Given the description of an element on the screen output the (x, y) to click on. 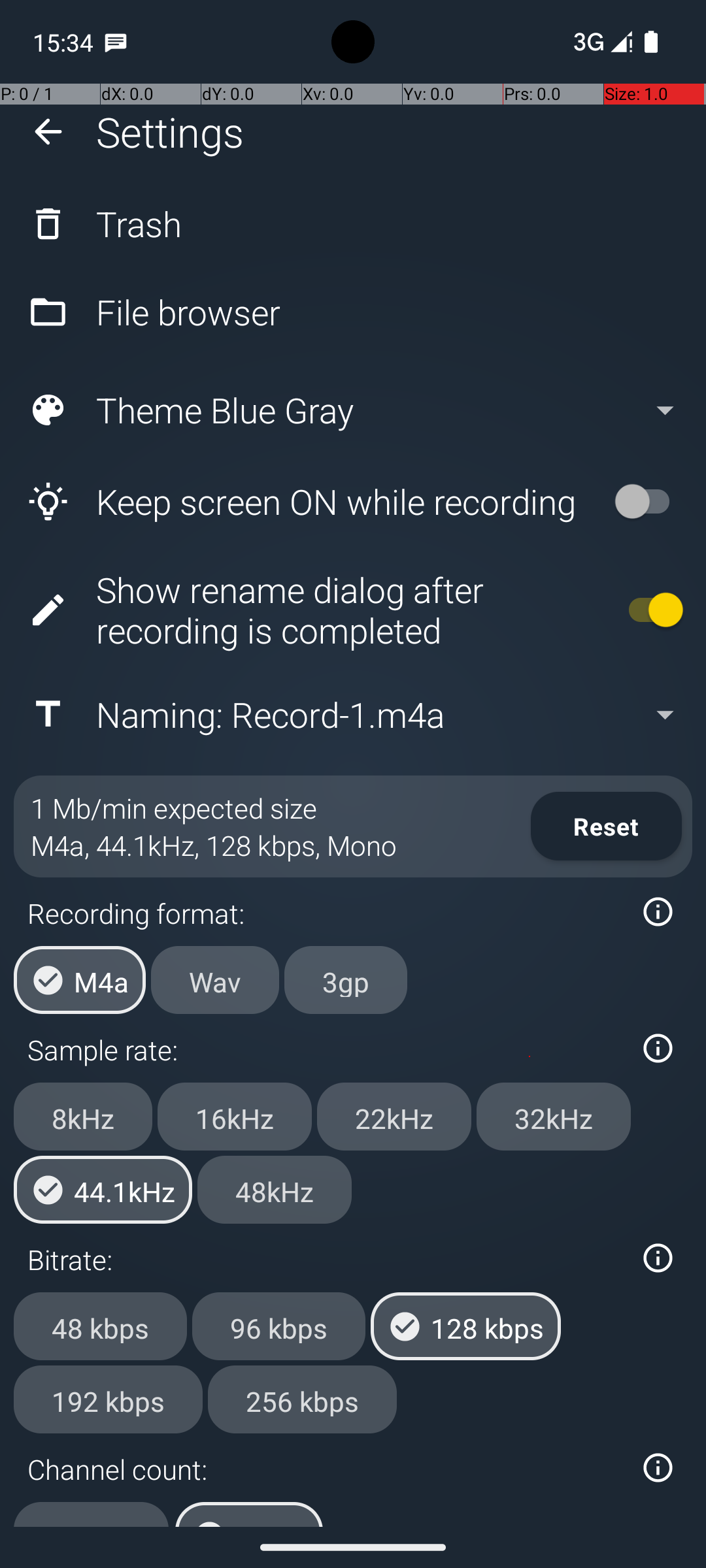
Settings Element type: android.widget.TextView (169, 131)
Trash Element type: android.widget.TextView (353, 223)
File browser Element type: android.widget.TextView (353, 311)
Keep screen ON while recording Element type: android.widget.TextView (304, 501)
Show rename dialog after recording is completed Element type: android.widget.TextView (304, 609)
M4a, 44.1kHz, 128 kbps, Mono Element type: android.widget.TextView (213, 844)
SMS Messenger notification: Petar Gonzalez Element type: android.widget.ImageView (115, 41)
